Given the description of an element on the screen output the (x, y) to click on. 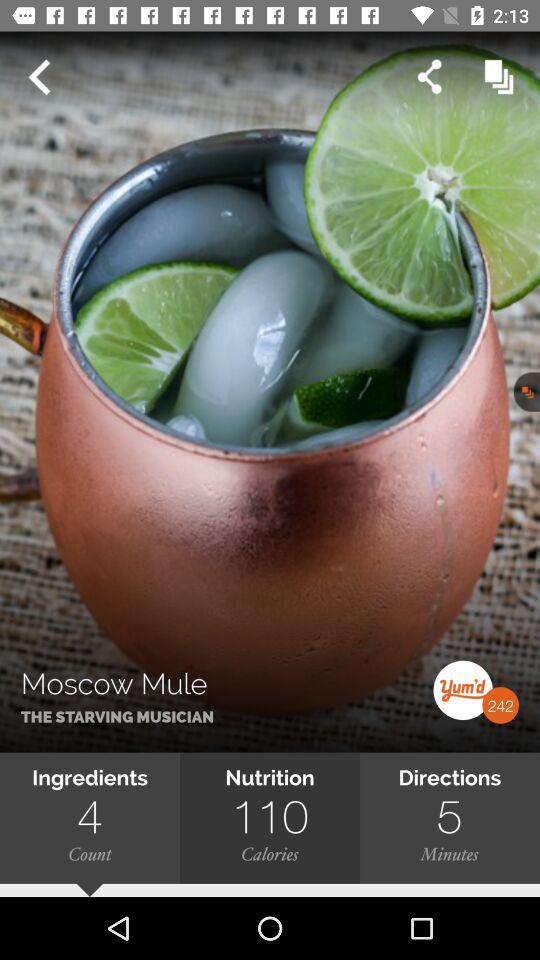
share feature (429, 76)
